Given the description of an element on the screen output the (x, y) to click on. 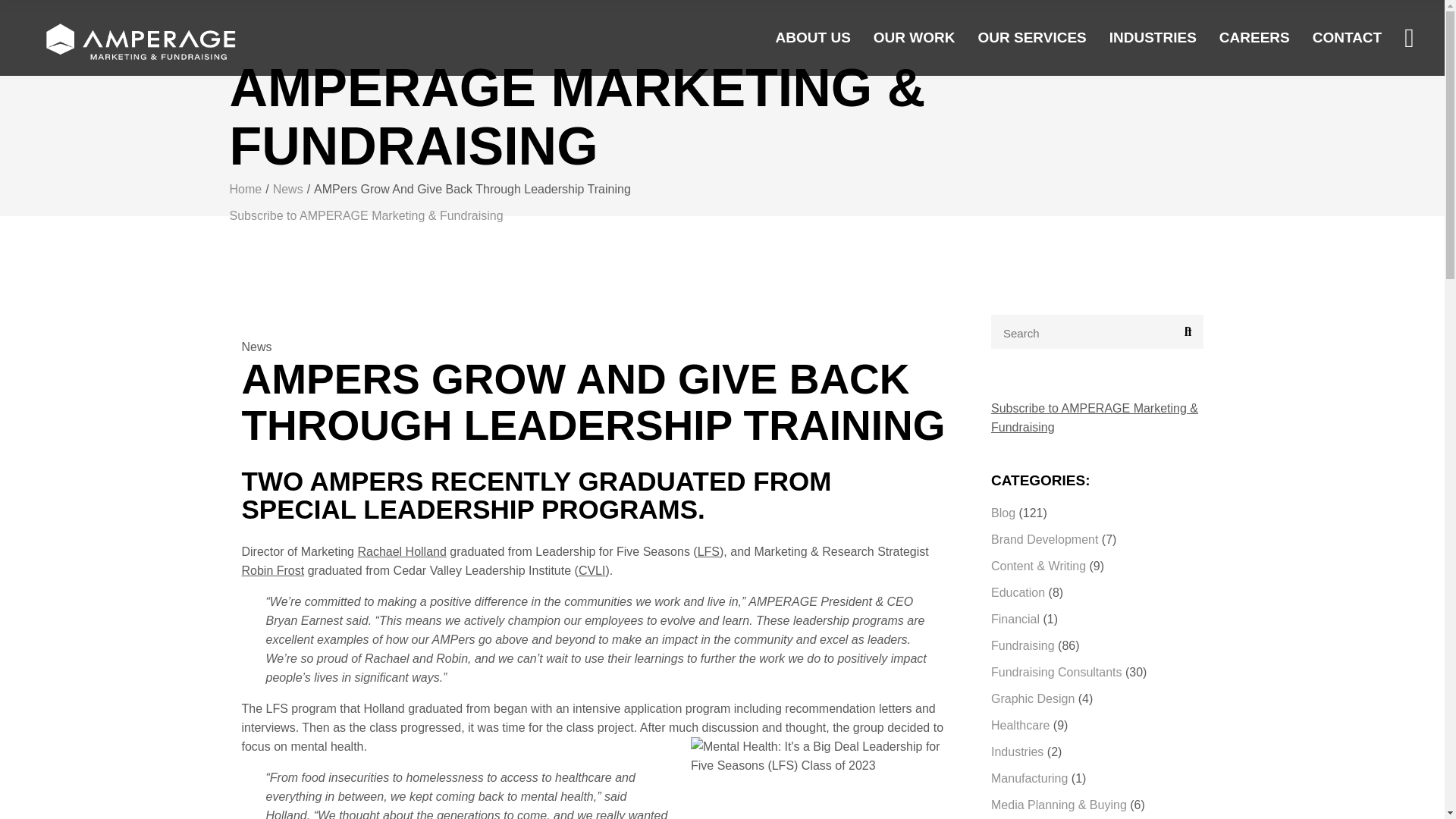
CONTACT (1347, 38)
INDUSTRIES (1152, 38)
Search for: (1097, 331)
ABOUT US (813, 38)
OUR SERVICES (1032, 38)
CAREERS (1255, 38)
OUR WORK (914, 38)
